Given the description of an element on the screen output the (x, y) to click on. 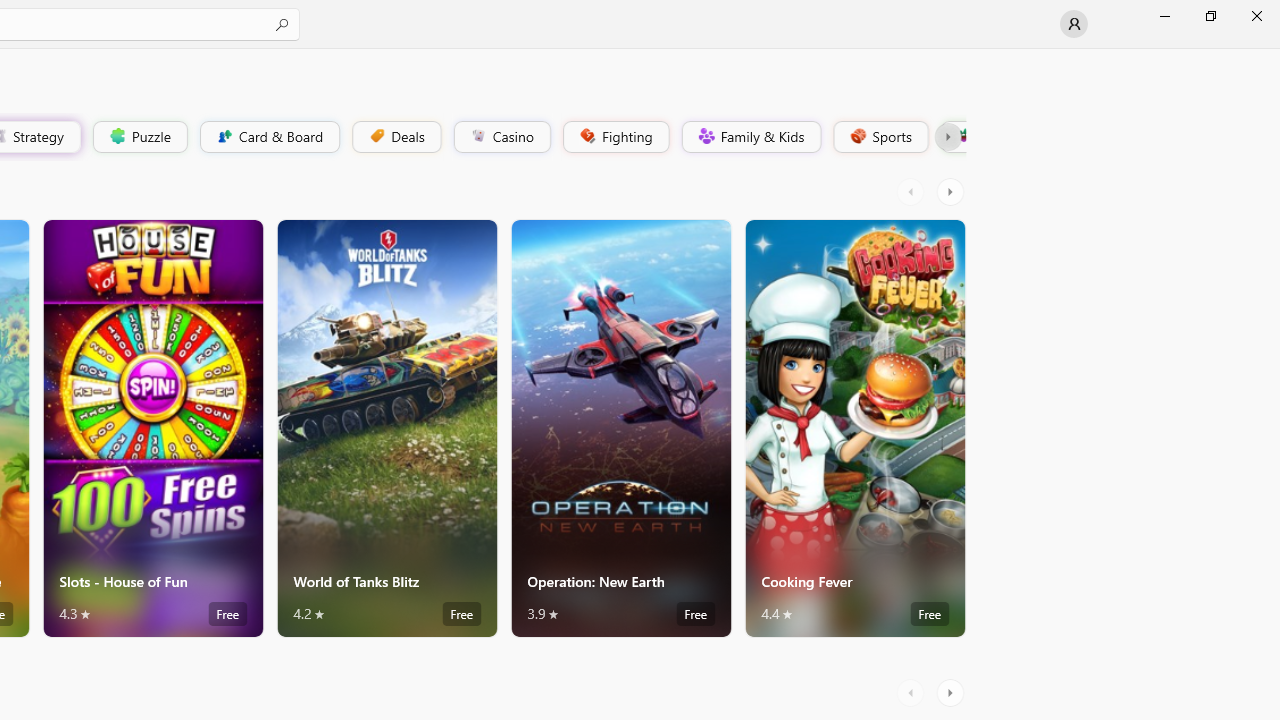
User profile (1073, 24)
Class: Button (947, 136)
Puzzle (139, 136)
Sports (879, 136)
Class: Image (961, 136)
Family & Kids (750, 136)
Restore Microsoft Store (1210, 15)
Deals (395, 136)
AutomationID: LeftScrollButton (913, 692)
Casino (501, 136)
Minimize Microsoft Store (1164, 15)
Fighting (614, 136)
AutomationID: RightScrollButton (952, 692)
